Given the description of an element on the screen output the (x, y) to click on. 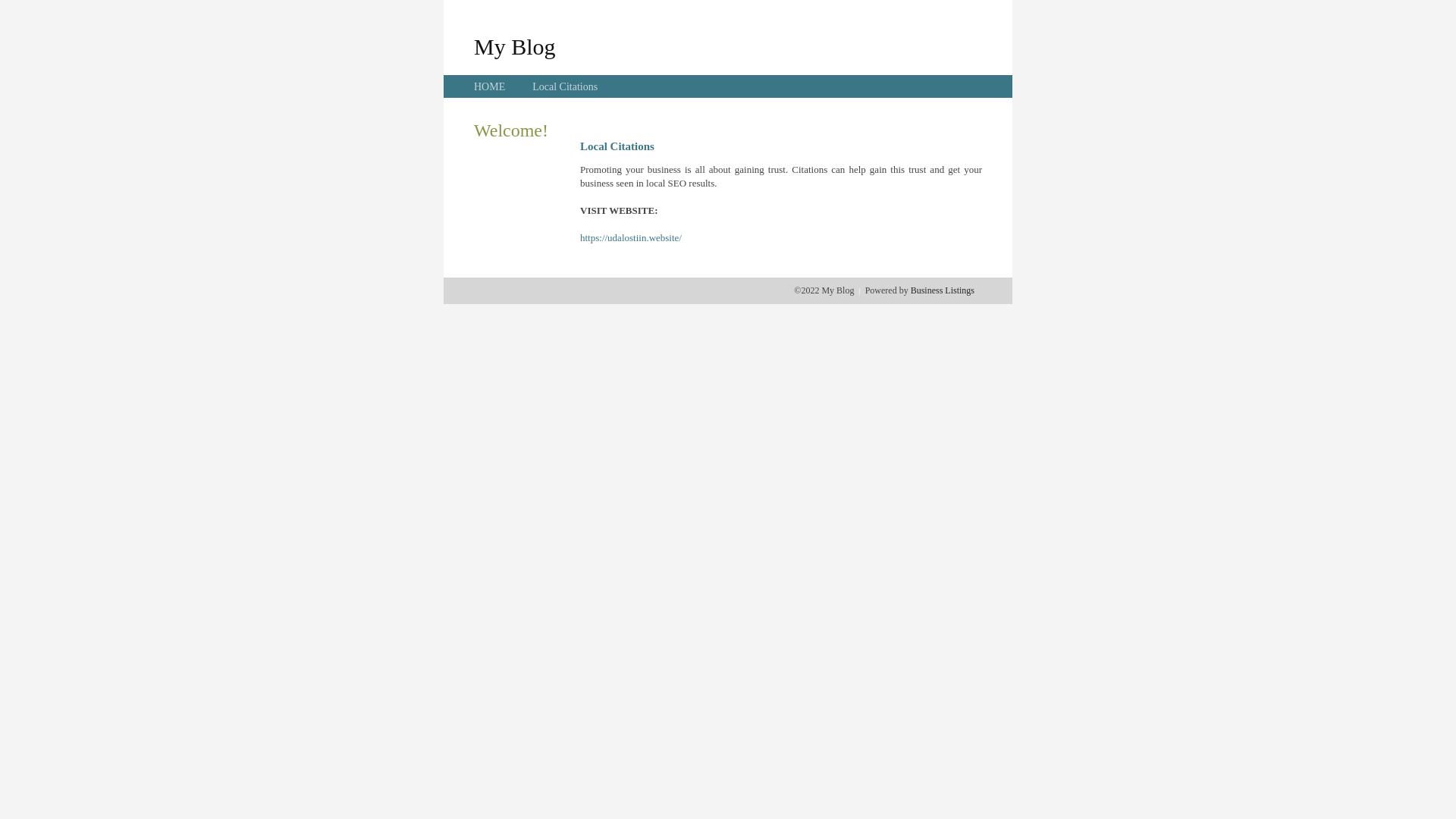
Business Listings Element type: text (942, 290)
HOME Element type: text (489, 86)
My Blog Element type: text (514, 46)
Local Citations Element type: text (564, 86)
https://udalostiin.website/ Element type: text (630, 237)
